Given the description of an element on the screen output the (x, y) to click on. 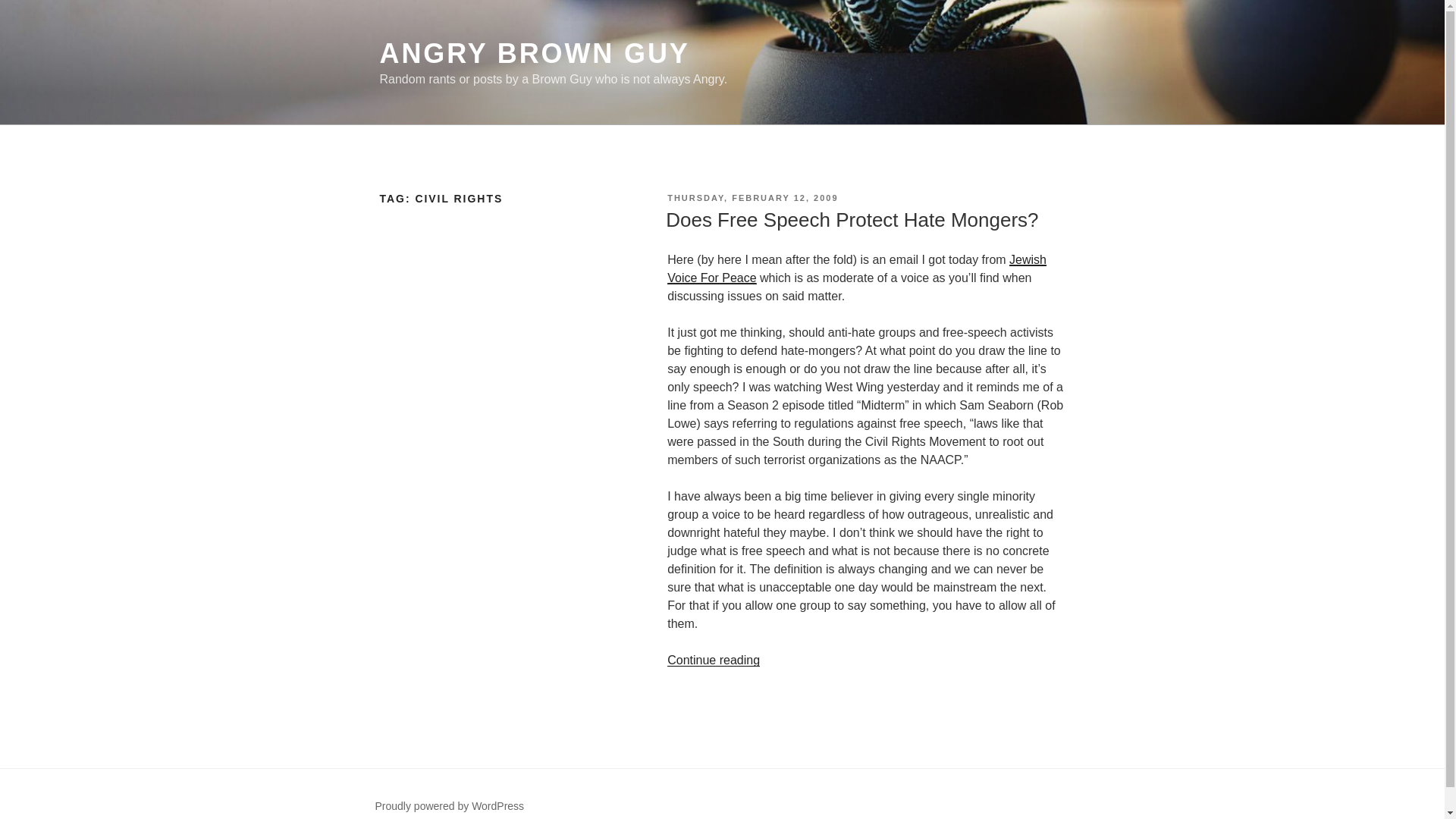
ANGRY BROWN GUY (533, 52)
Proudly powered by WordPress (449, 806)
Jewish Voice For Peace (856, 268)
Does Free Speech Protect Hate Mongers? (851, 219)
THURSDAY, FEBRUARY 12, 2009 (752, 197)
